Given the description of an element on the screen output the (x, y) to click on. 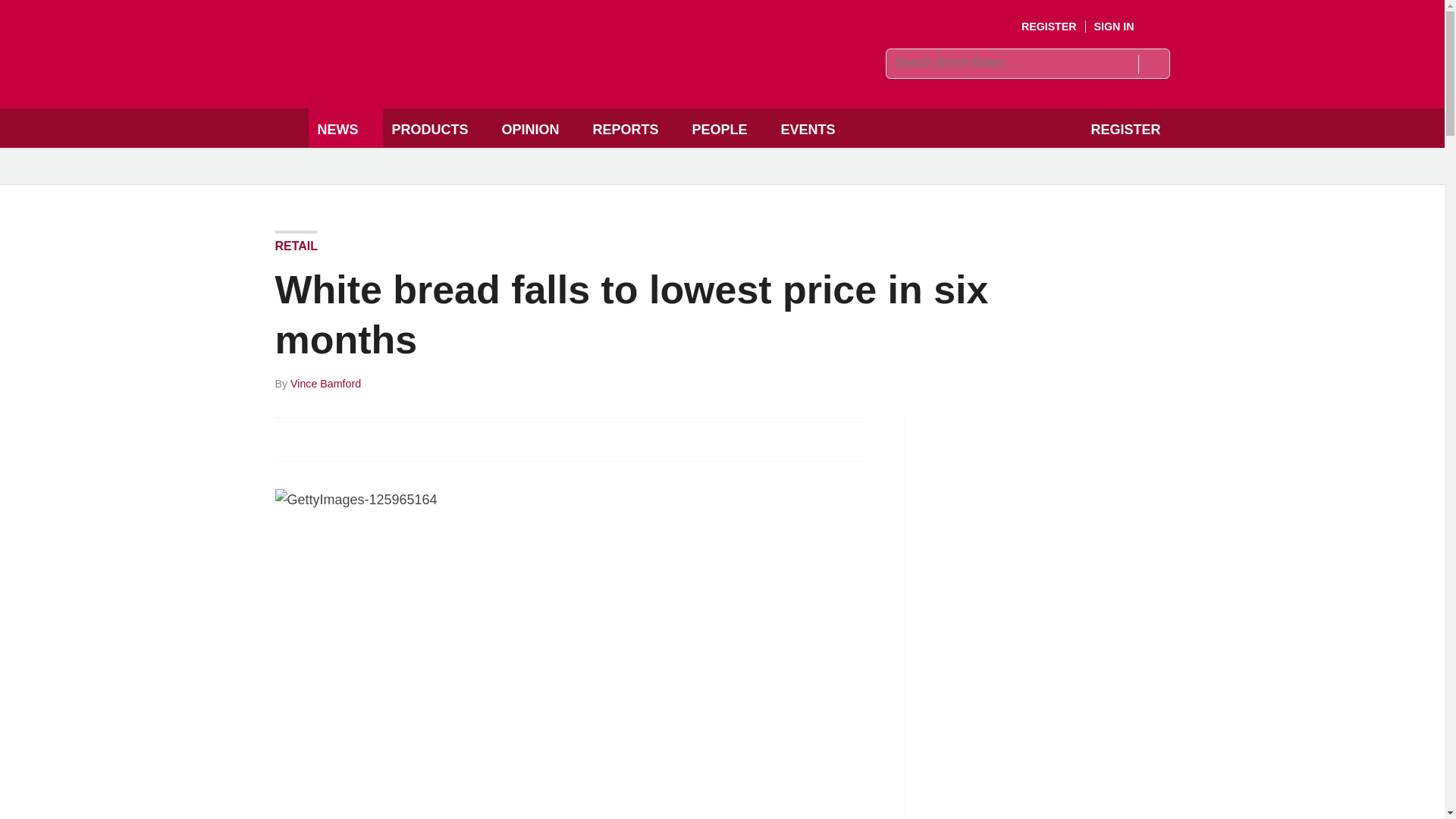
Email this article (386, 438)
SEARCH (1153, 63)
Share this on Twitter (320, 438)
Share this on Facebook (288, 438)
Share this on Linked in (352, 438)
No comments (840, 447)
SIGN IN (1125, 26)
REGISTER (1049, 26)
Site name (484, 76)
